Given the description of an element on the screen output the (x, y) to click on. 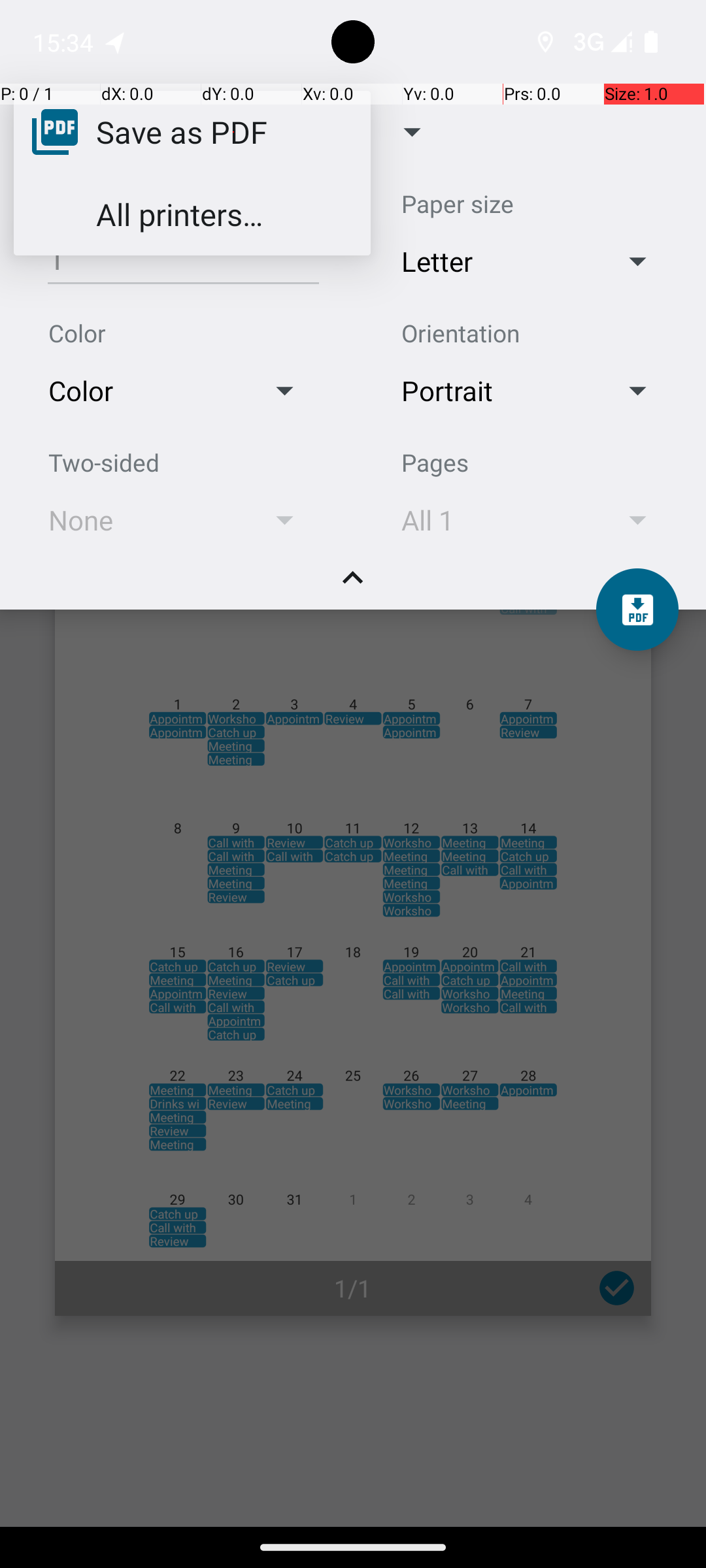
Save as PDF Element type: android.widget.TextView (182, 131)
All printers… Element type: android.widget.TextView (179, 213)
